Given the description of an element on the screen output the (x, y) to click on. 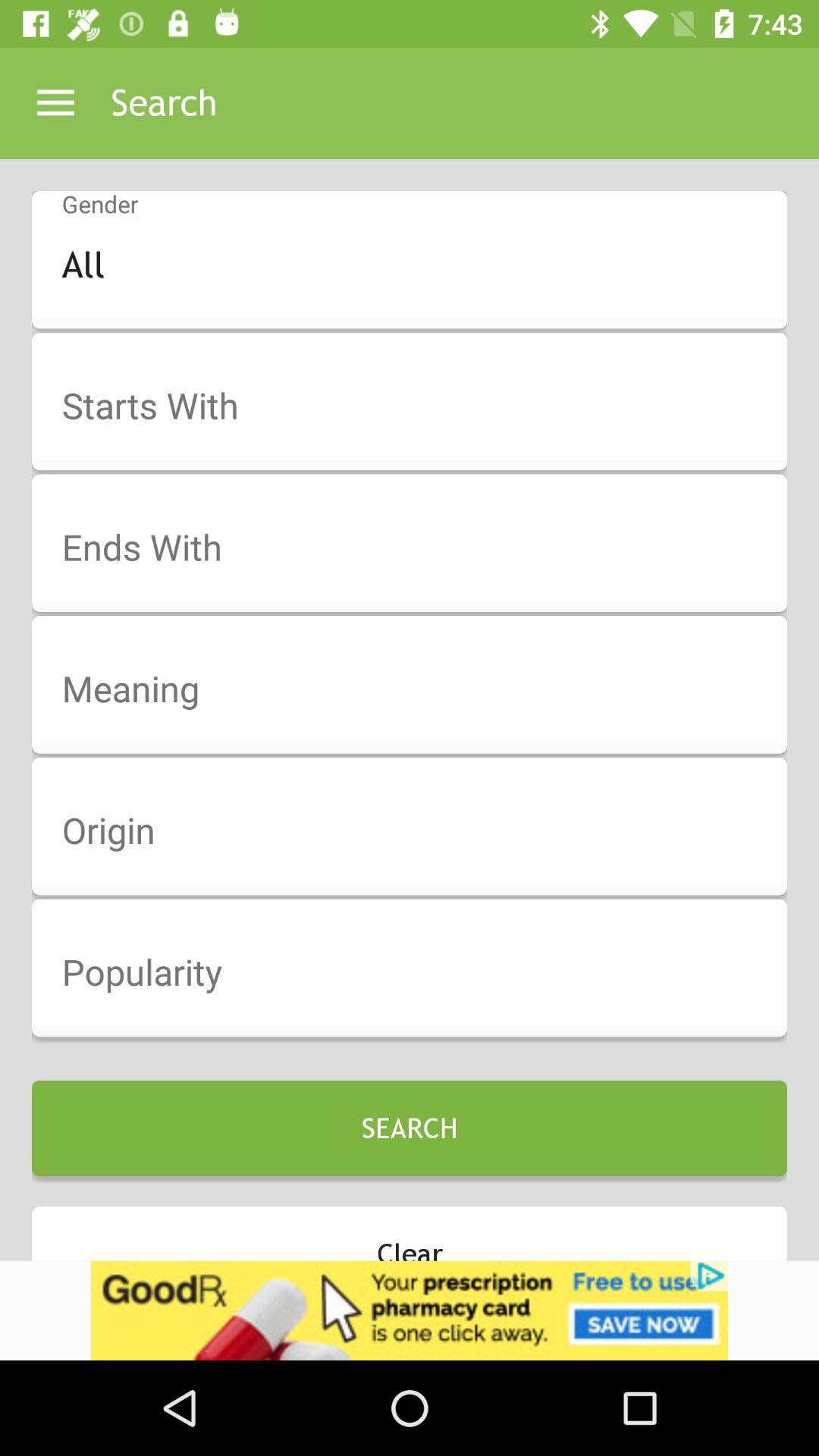
go to end (419, 548)
